Given the description of an element on the screen output the (x, y) to click on. 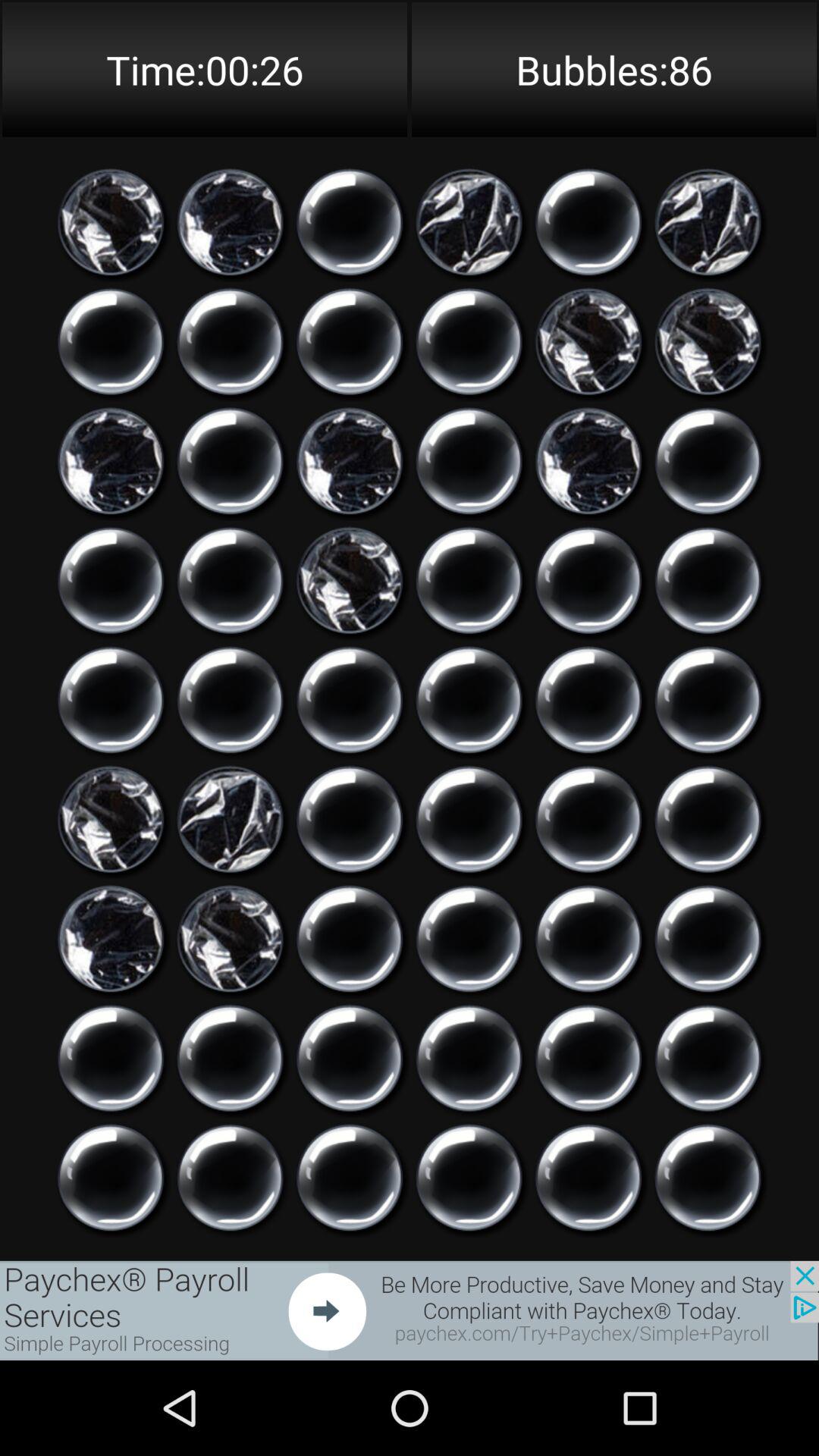
pop this bubble (230, 1058)
